Given the description of an element on the screen output the (x, y) to click on. 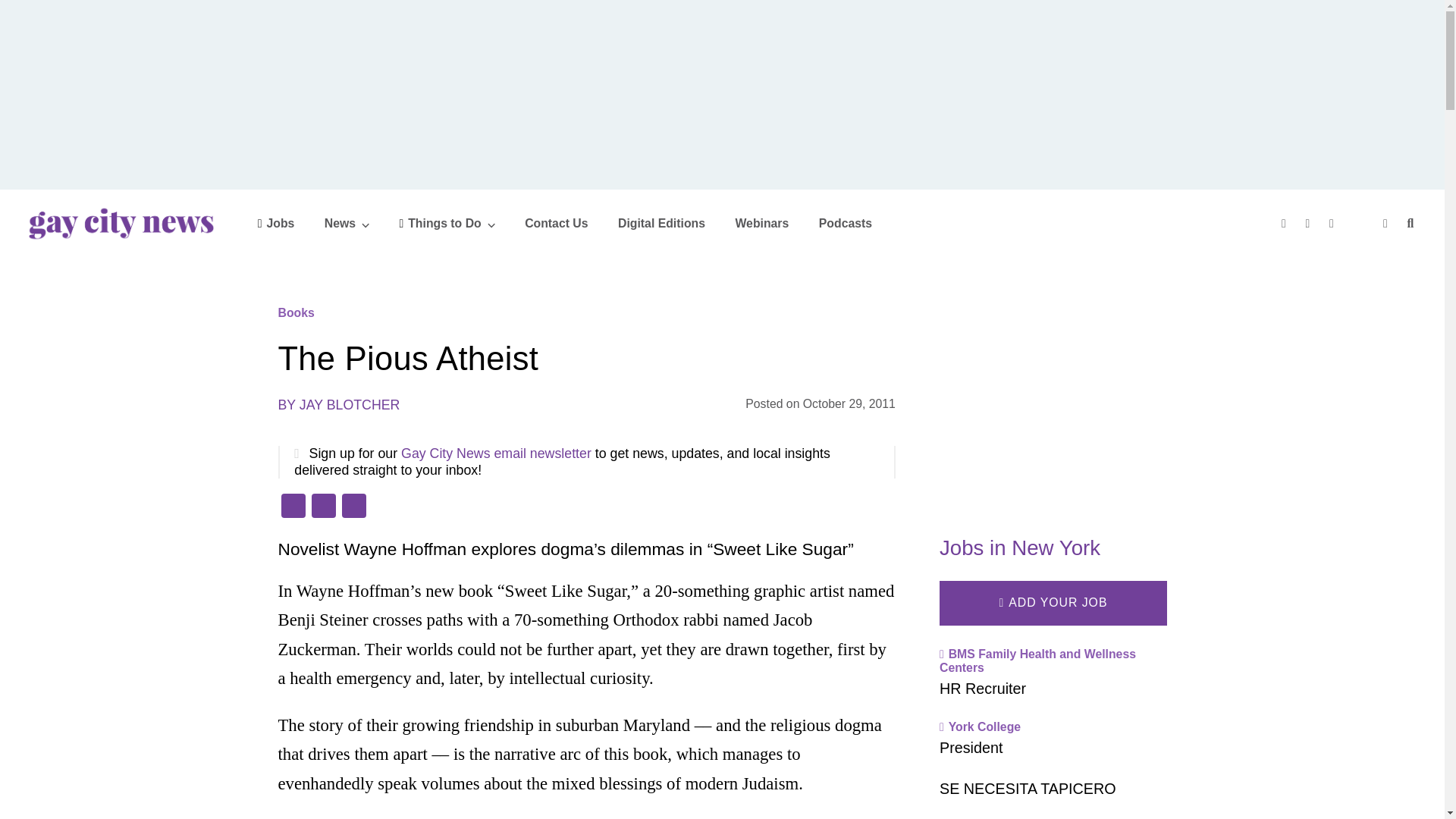
Twitter (322, 507)
Podcasts (845, 223)
Webinars (762, 223)
Jobs (276, 223)
Contact Us (556, 223)
Facebook (292, 507)
Things to Do (446, 223)
Digital Editions (660, 223)
News (346, 223)
